Given the description of an element on the screen output the (x, y) to click on. 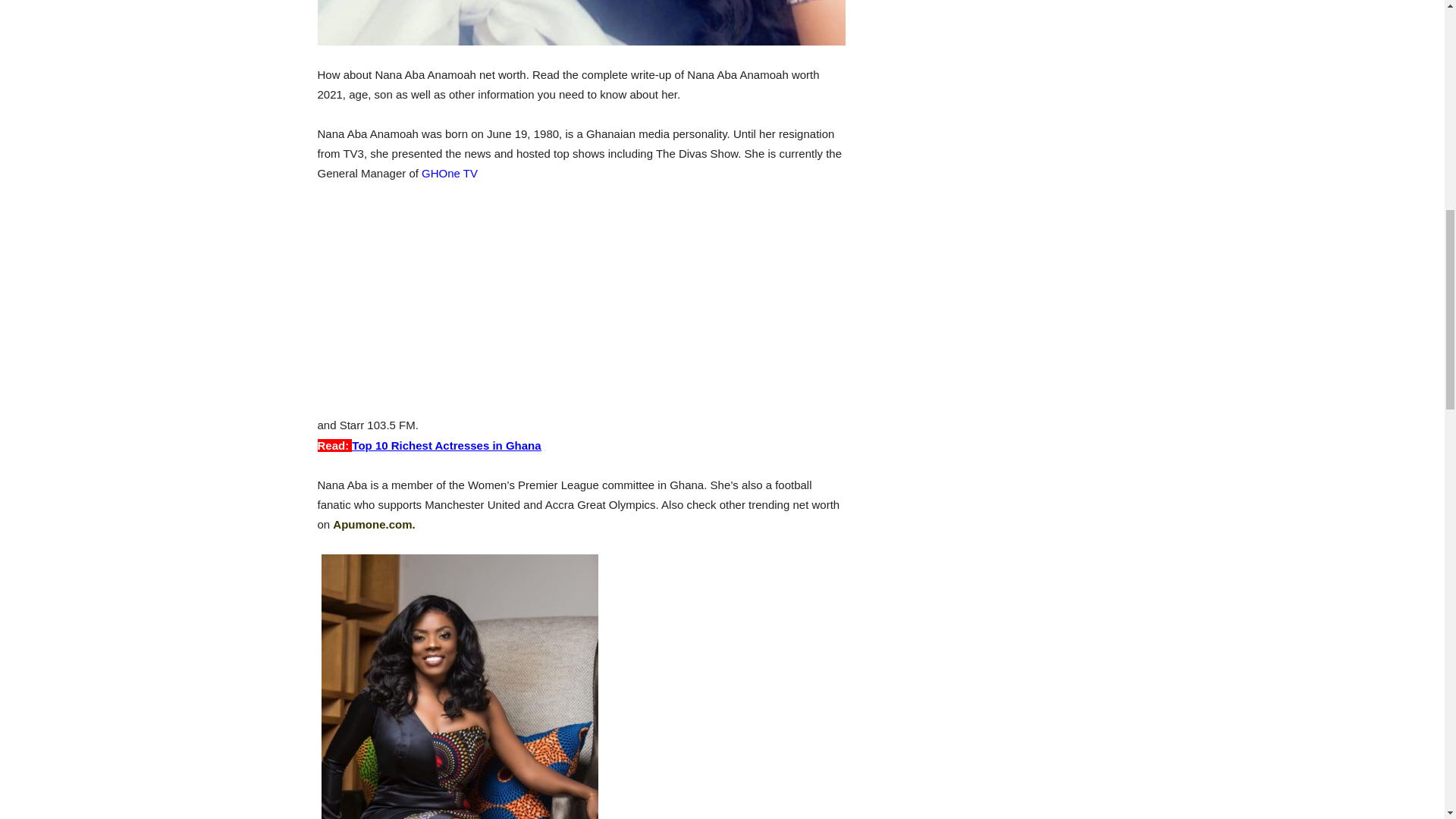
Top 10 Richest Actresses in Ghana (446, 445)
Advertisement (580, 309)
Apumone.com (372, 523)
Nana Aba Anamoah (580, 22)
